Given the description of an element on the screen output the (x, y) to click on. 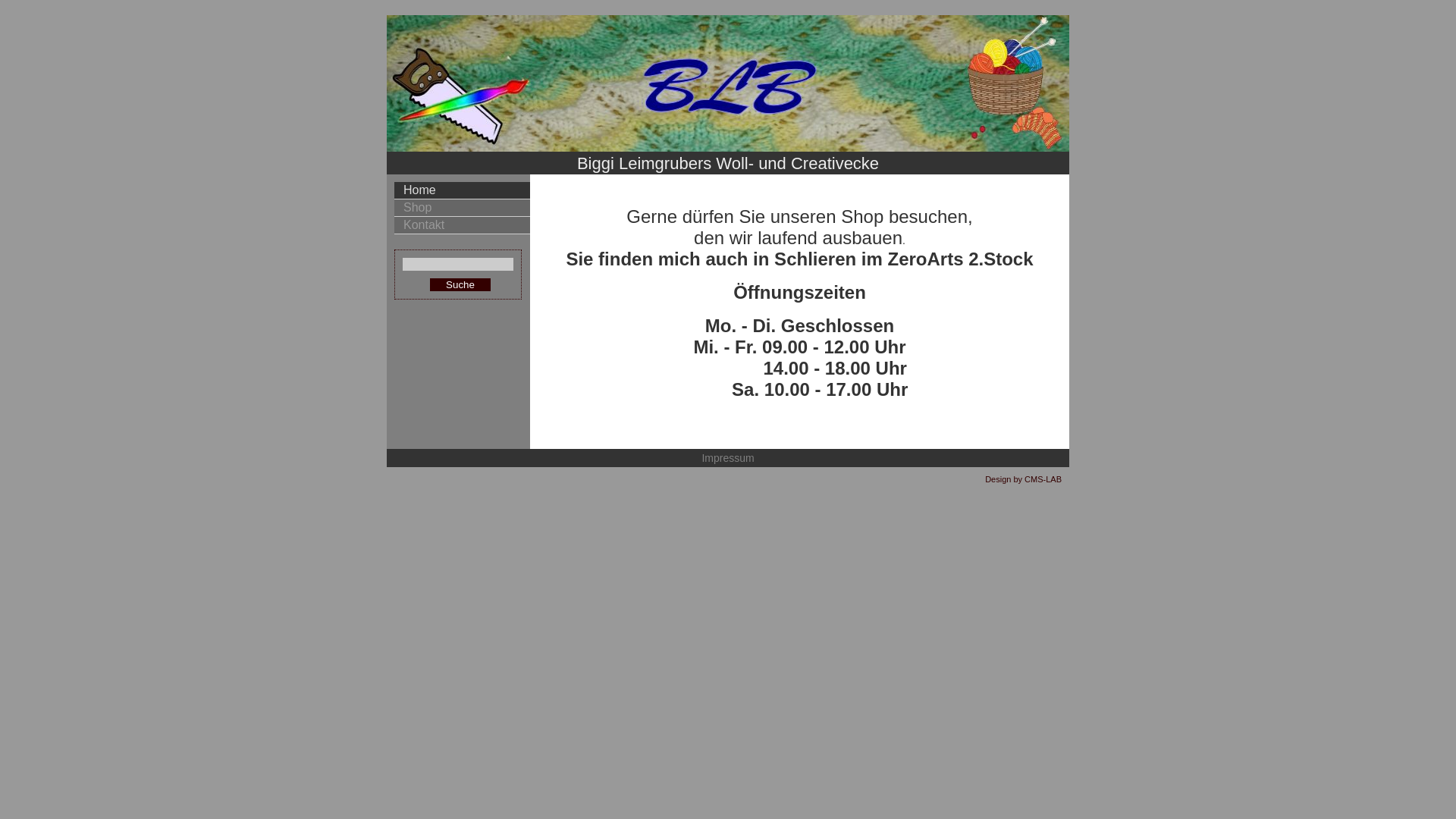
Impressum Element type: text (727, 457)
Shop Element type: text (462, 207)
Home Element type: text (462, 190)
Kontakt Element type: text (462, 225)
Design by CMS-LAB Element type: text (1023, 478)
Suche Element type: text (459, 284)
